Given the description of an element on the screen output the (x, y) to click on. 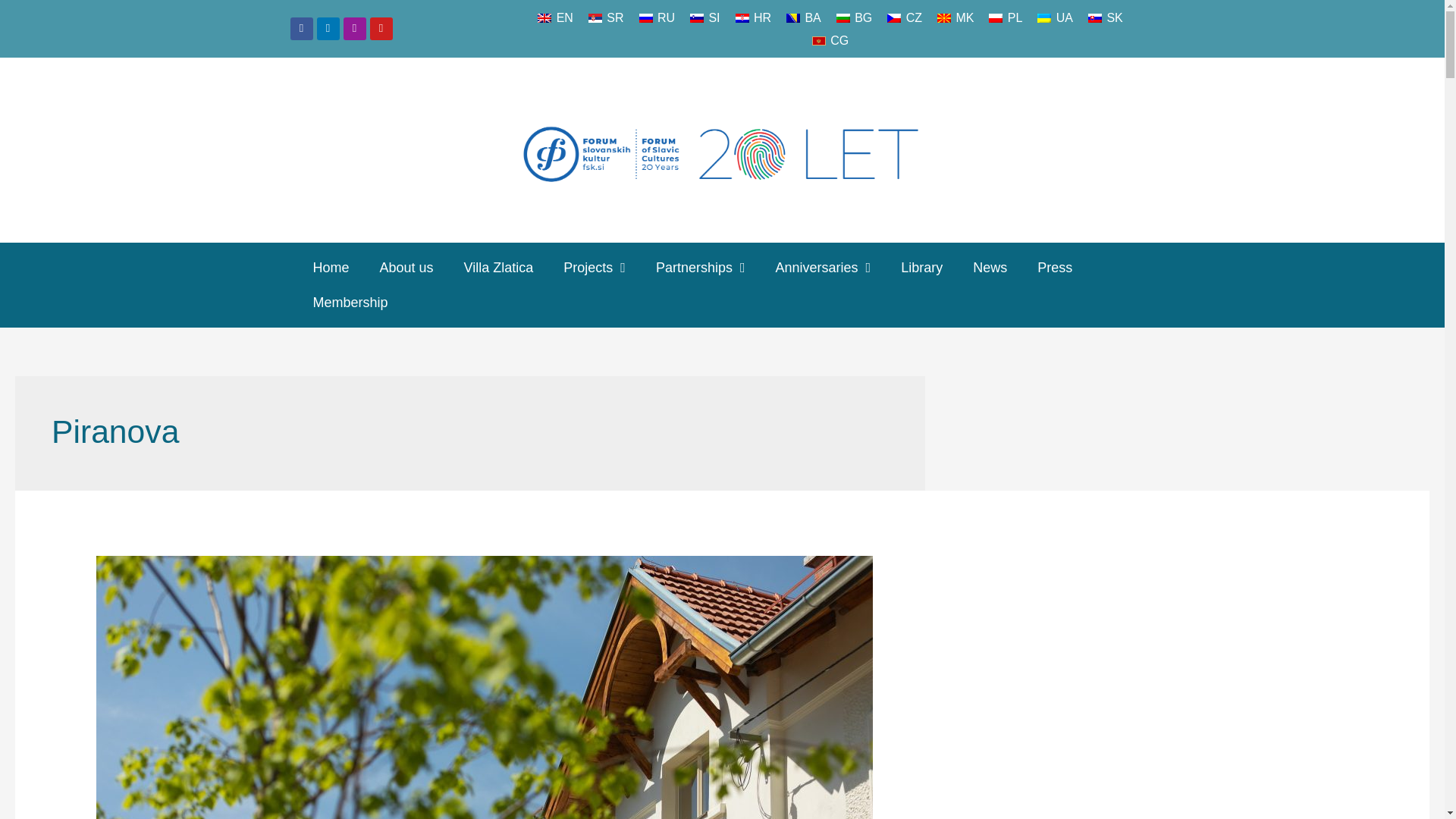
Villa Zlatica (498, 267)
BA (803, 17)
Projects (594, 267)
PL (1005, 17)
CG (830, 40)
SI (705, 17)
CZ (904, 17)
RU (656, 17)
HR (753, 17)
Linkedin (328, 28)
Instagram (353, 28)
Partnerships (700, 267)
EN (554, 17)
About us (406, 267)
MK (955, 17)
